Given the description of an element on the screen output the (x, y) to click on. 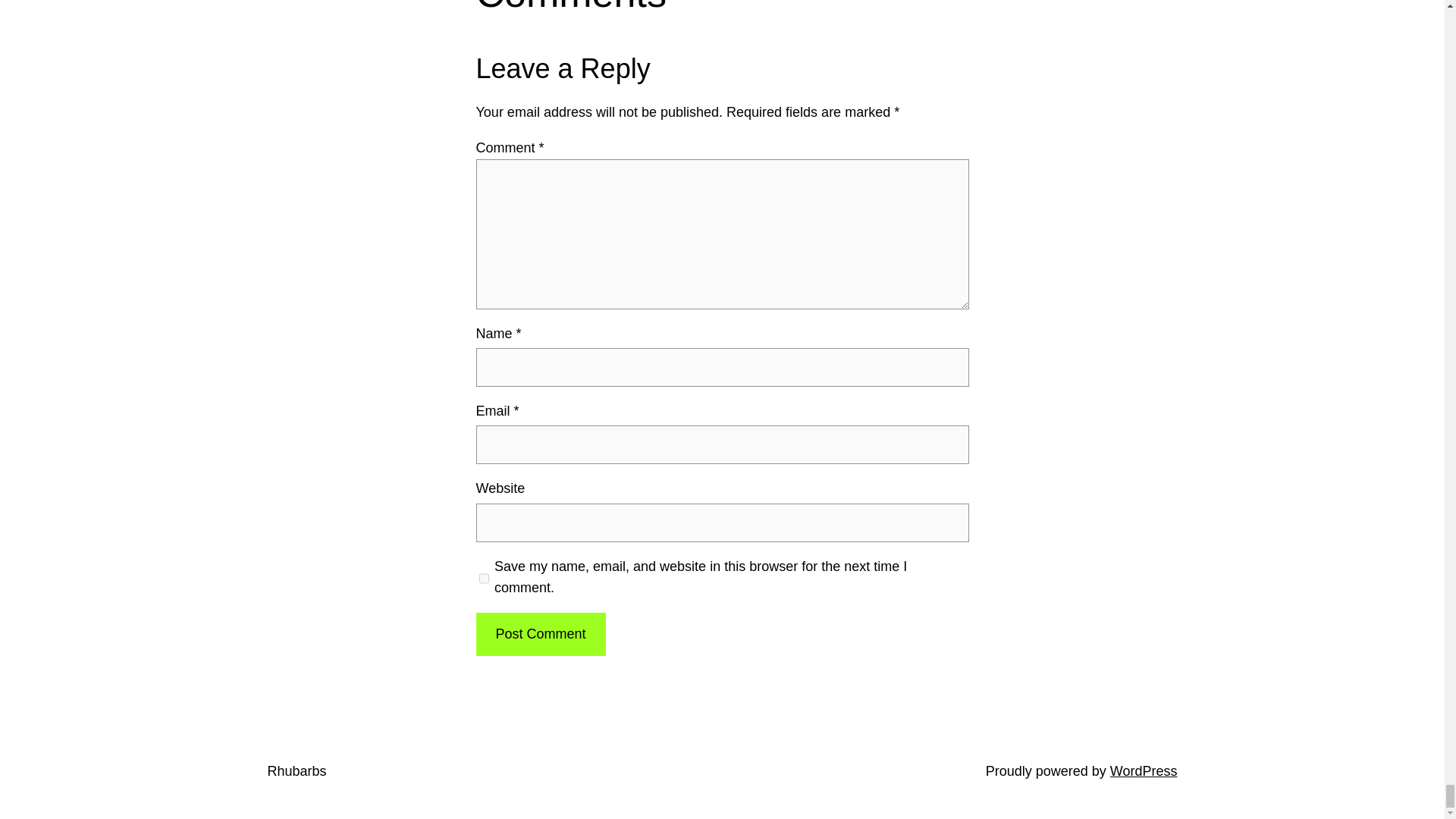
Post Comment (540, 634)
Rhubarbs (296, 770)
Post Comment (540, 634)
WordPress (1143, 770)
